Given the description of an element on the screen output the (x, y) to click on. 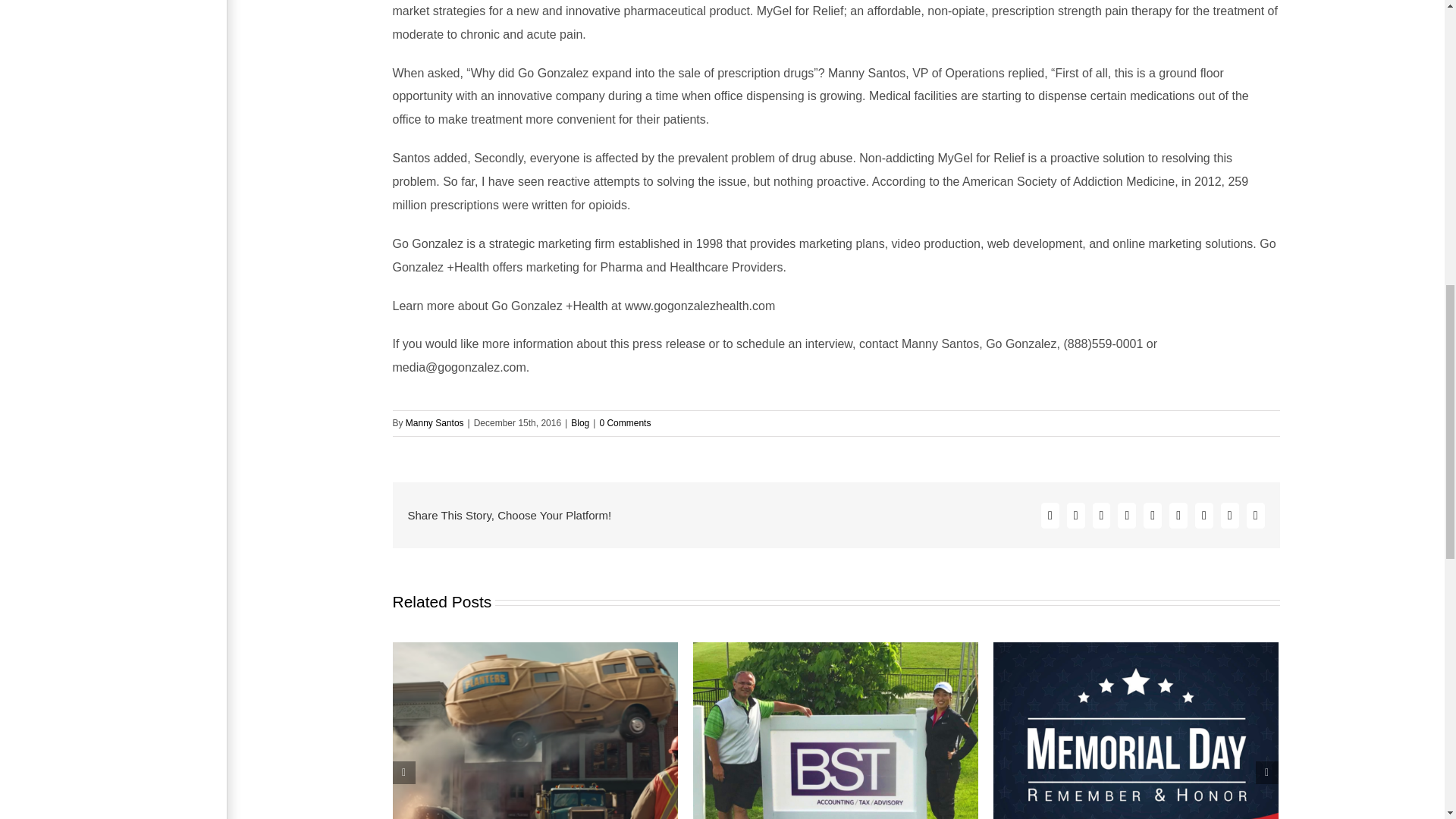
Blog (579, 422)
Manny Santos (435, 422)
